Given the description of an element on the screen output the (x, y) to click on. 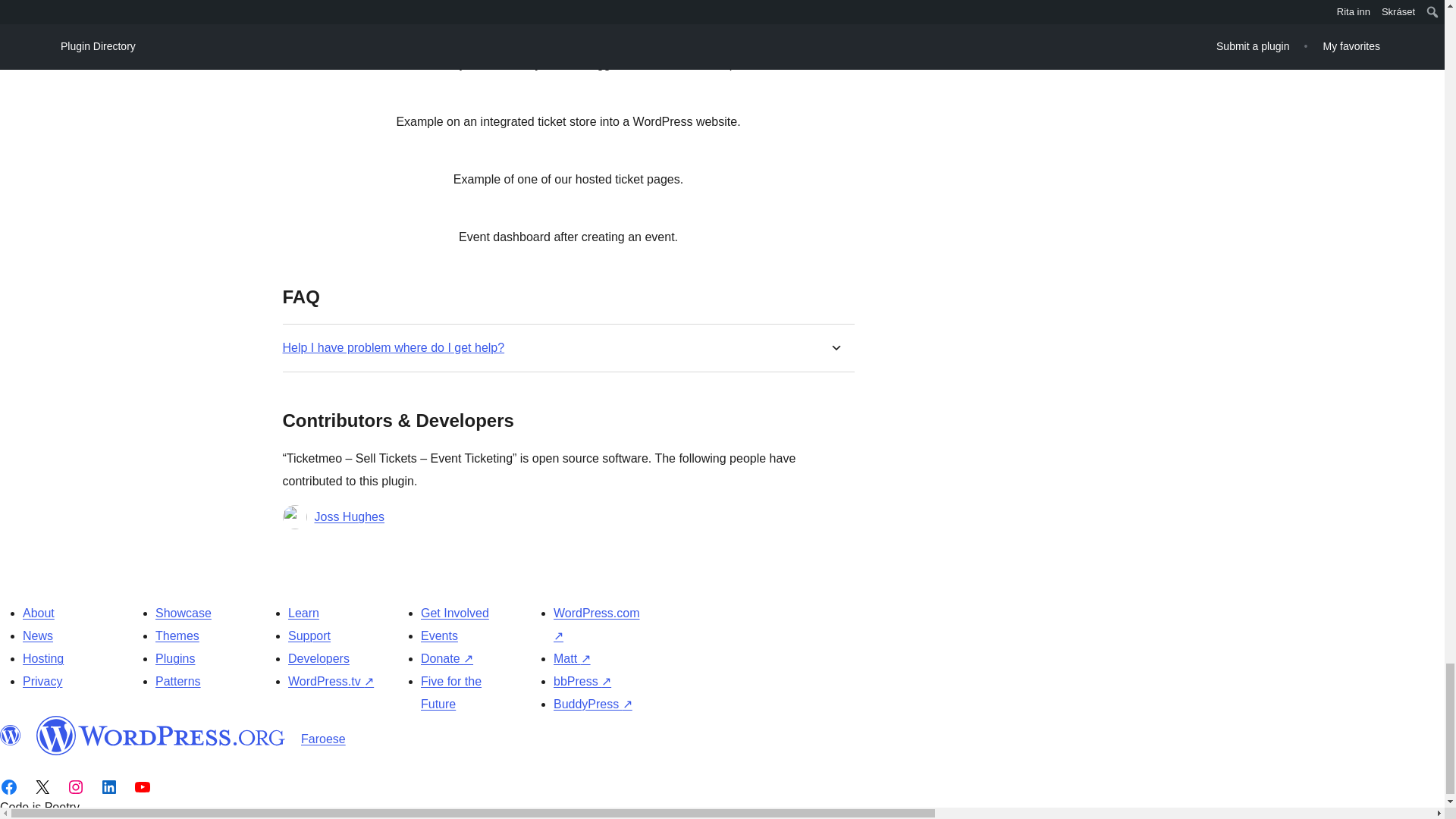
WordPress.org (160, 735)
WordPress.org (10, 735)
